Given the description of an element on the screen output the (x, y) to click on. 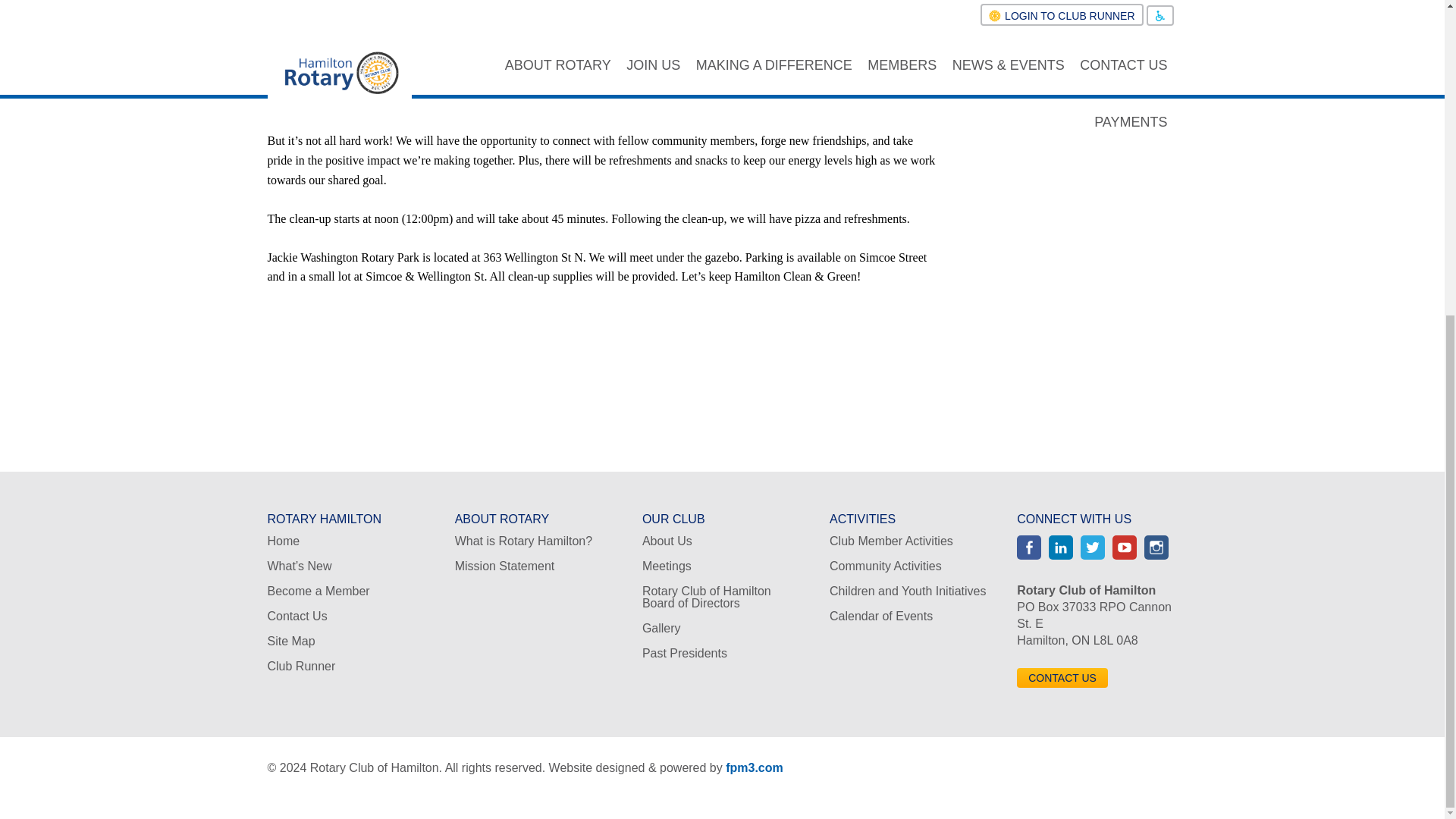
Twitter (1092, 547)
Facebook (1028, 547)
YouTube (1124, 547)
LinkedIn (1060, 547)
Instagram (1156, 547)
